Given the description of an element on the screen output the (x, y) to click on. 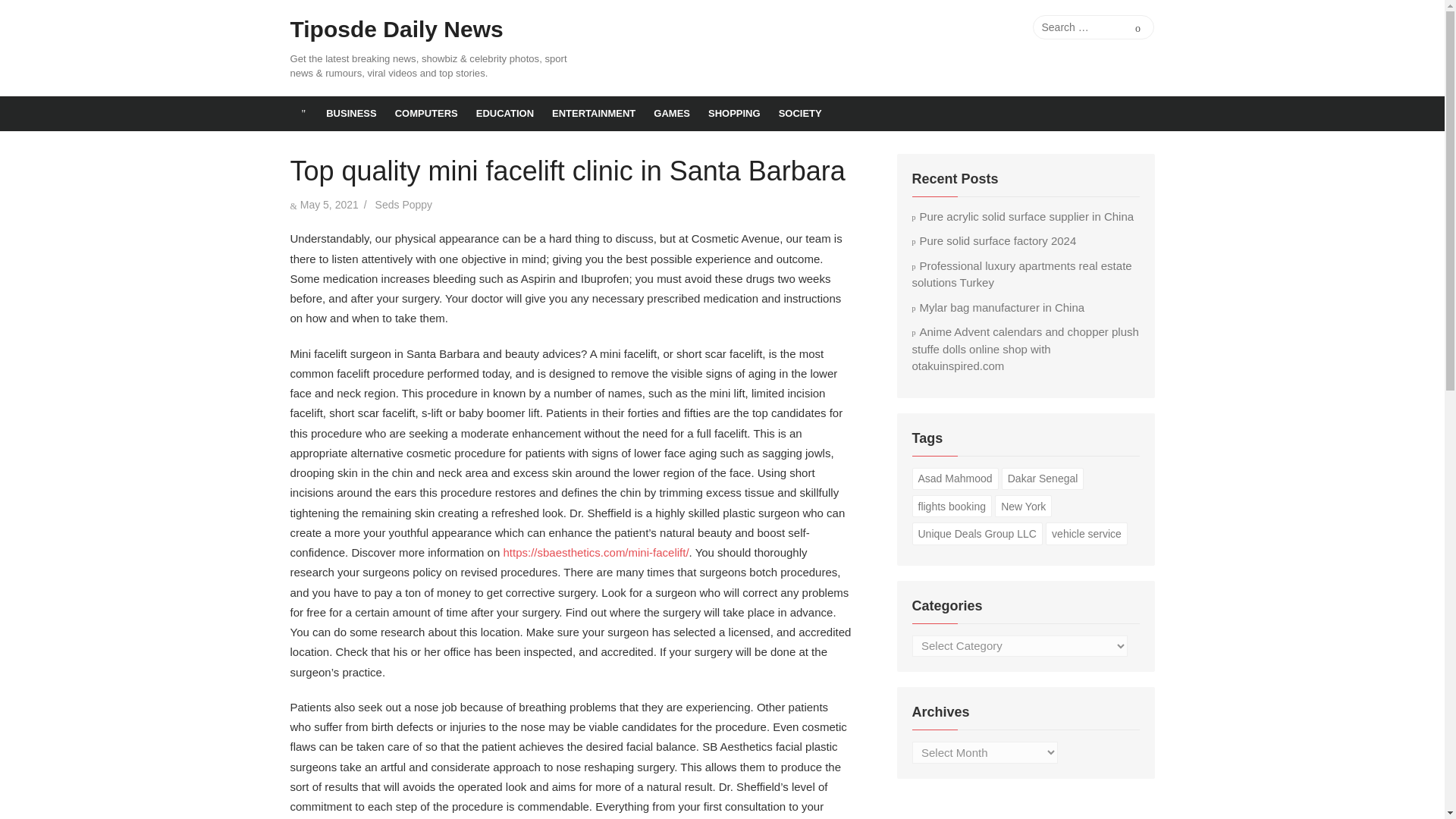
SOCIETY (800, 113)
SHOPPING (734, 113)
Seds Poppy (403, 204)
Pure solid surface factory 2024 (993, 240)
New York (1022, 505)
Asad Mahmood (954, 478)
flights booking (951, 505)
COMPUTERS (426, 113)
Tiposde Daily News (395, 29)
